Given the description of an element on the screen output the (x, y) to click on. 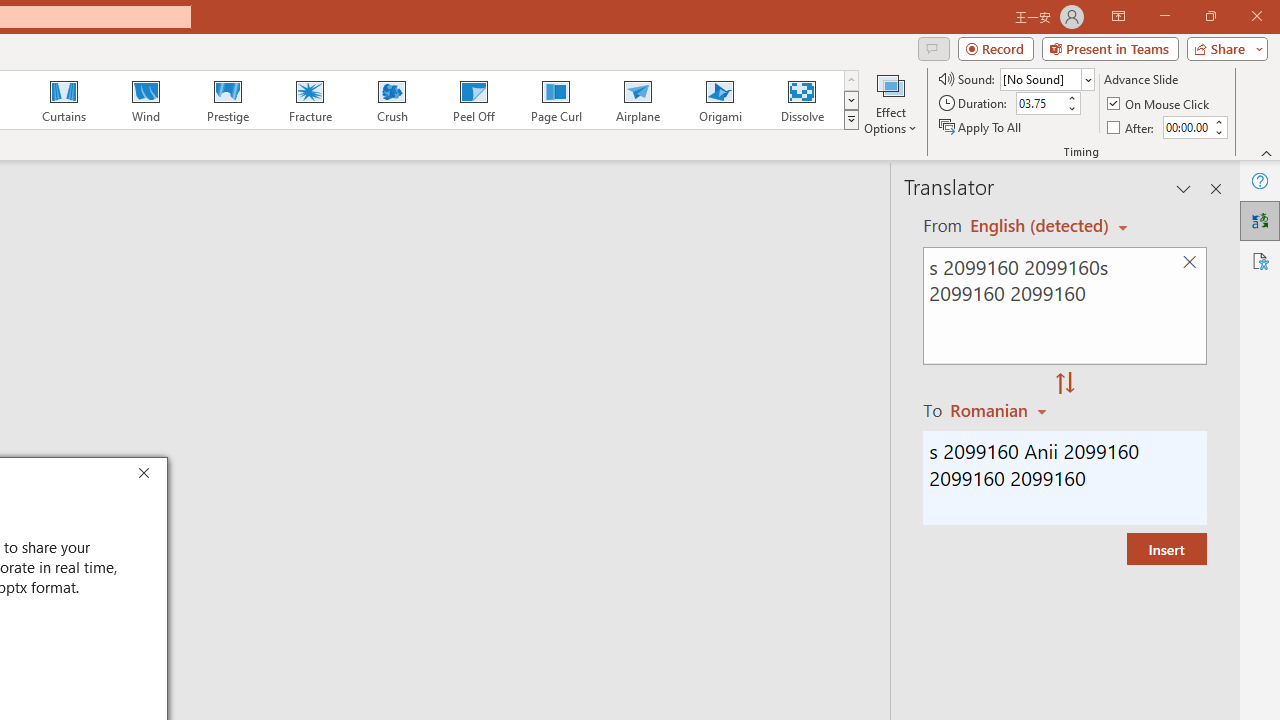
Origami (719, 100)
Crush (391, 100)
Apply To All (981, 126)
Airplane (637, 100)
Dissolve (802, 100)
